Given the description of an element on the screen output the (x, y) to click on. 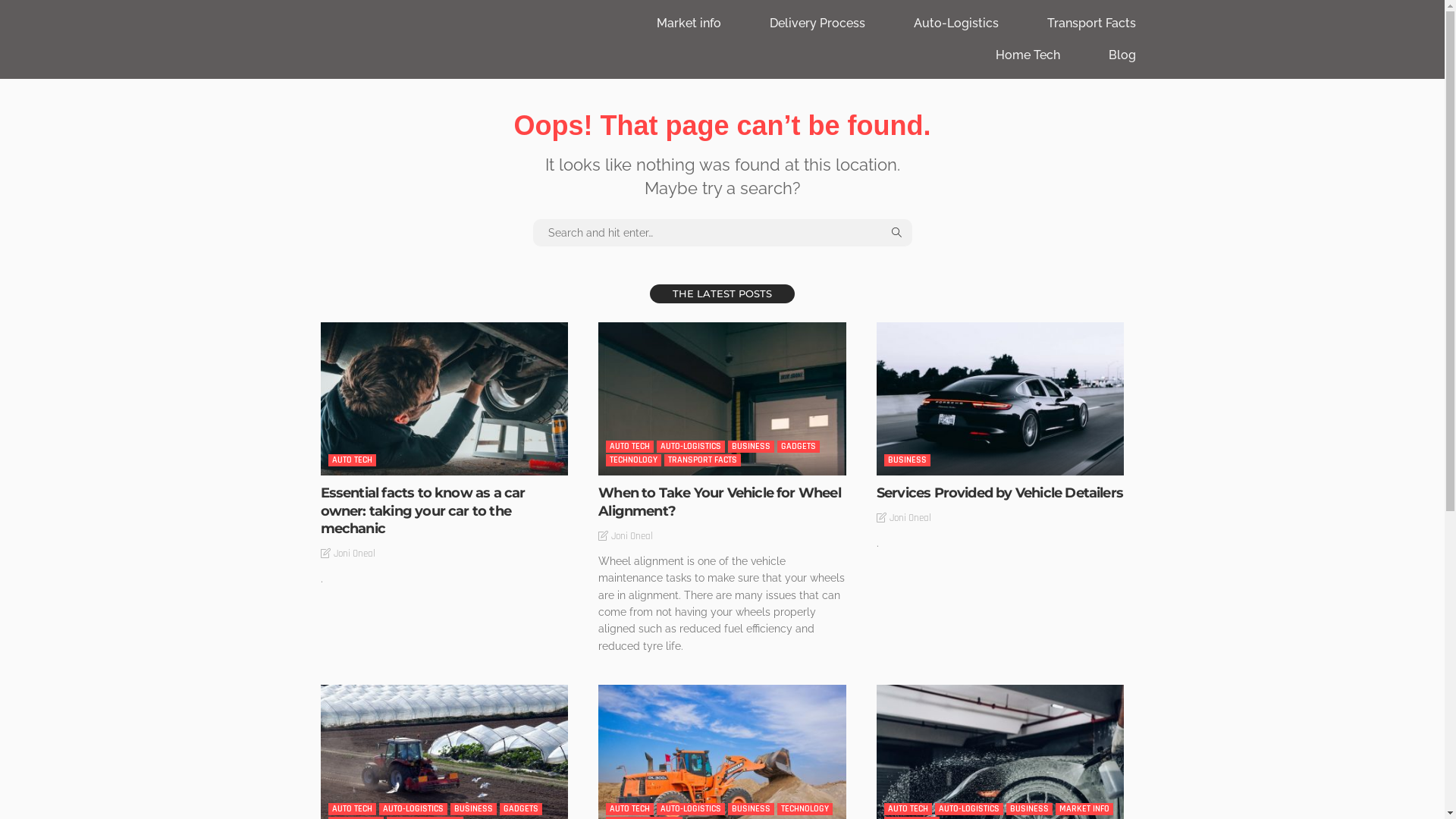
When to Take Your Vehicle for Wheel Alignment? Element type: text (719, 501)
Joni Oneal Element type: text (631, 535)
BUSINESS Element type: text (473, 809)
BUSINESS Element type: text (751, 446)
TRANSPORT FACTS Element type: text (702, 460)
Joni Oneal Element type: text (910, 517)
Joni Oneal Element type: text (354, 553)
MARKET INFO Element type: text (1084, 809)
TECHNOLOGY Element type: text (804, 809)
Auto-Logistics Element type: text (955, 23)
AUTO-LOGISTICS Element type: text (413, 809)
AUTO TECH Element type: text (351, 809)
GADGETS Element type: text (798, 446)
Blog Element type: text (1121, 55)
TECHNOLOGY Element type: text (633, 460)
AUTO TECH Element type: text (629, 446)
search for: Element type: hover (721, 232)
BUSINESS Element type: text (907, 460)
BUSINESS Element type: text (1029, 809)
AUTO-LOGISTICS Element type: text (969, 809)
AUTO TECH Element type: text (629, 809)
Services Provided by Vehicle Detailers Element type: hover (1000, 398)
AUTO TECH Element type: text (907, 809)
Market info Element type: text (688, 23)
AUTO TECH Element type: text (351, 460)
GADGETS Element type: text (519, 809)
When to Take Your Vehicle for Wheel Alignment? Element type: hover (722, 398)
Transport Facts Element type: text (1090, 23)
AUTO-LOGISTICS Element type: text (690, 809)
BUSINESS Element type: text (751, 809)
Delivery Process Element type: text (816, 23)
AUTO-LOGISTICS Element type: text (690, 446)
Services Provided by Vehicle Detailers Element type: text (999, 492)
Home Tech Element type: text (1027, 55)
